Given the description of an element on the screen output the (x, y) to click on. 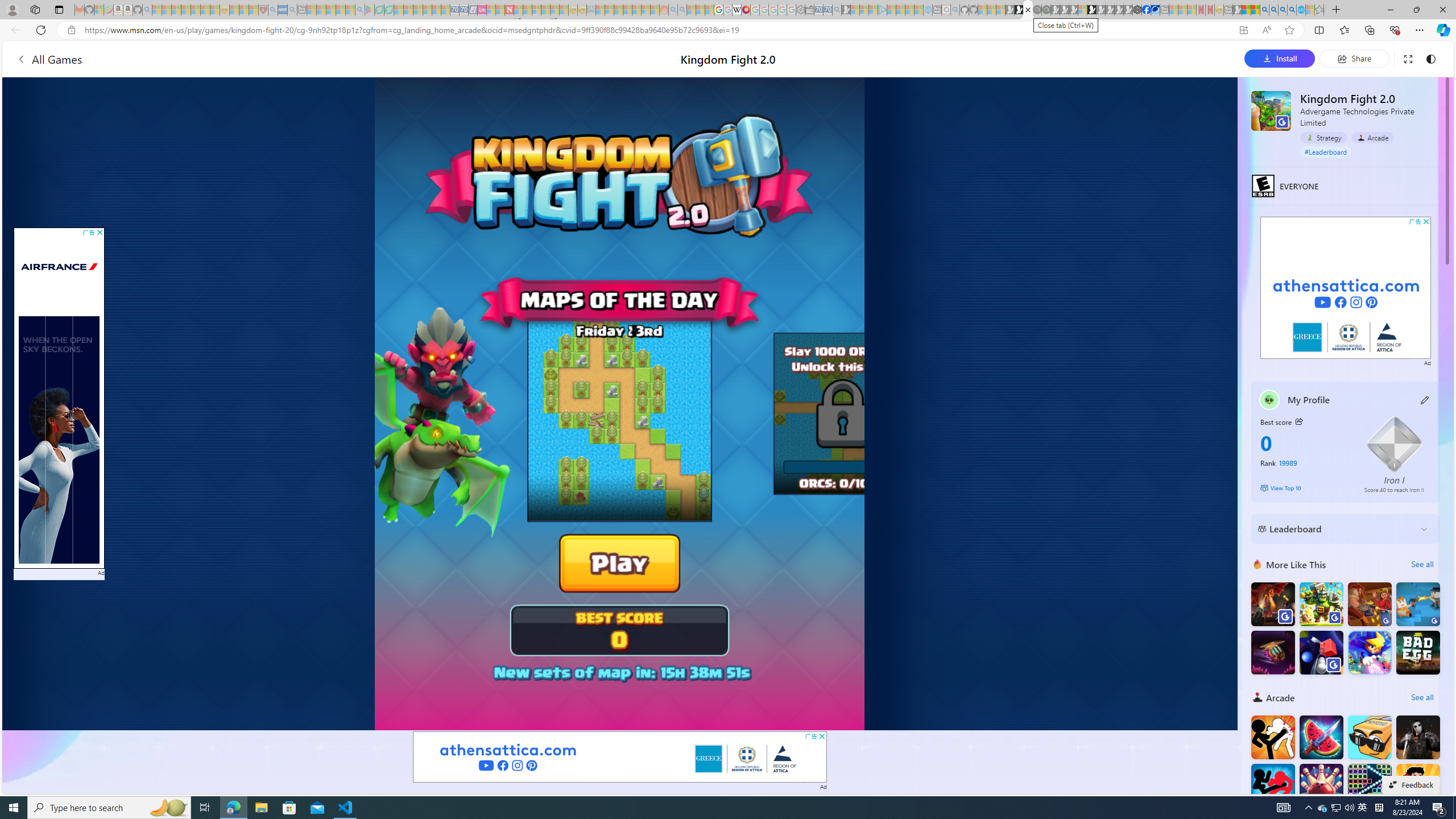
Super Bowling Mania (1321, 785)
View Top 10 (1304, 487)
Services - Maintenance | Sky Blue Bikes - Sky Blue Bikes (1300, 9)
Settings - Sleeping (799, 9)
Arcade (1256, 697)
AutomationID: avion (71, 376)
Advertisement (1345, 287)
Arcade (1372, 137)
More Like This (1256, 563)
